Given the description of an element on the screen output the (x, y) to click on. 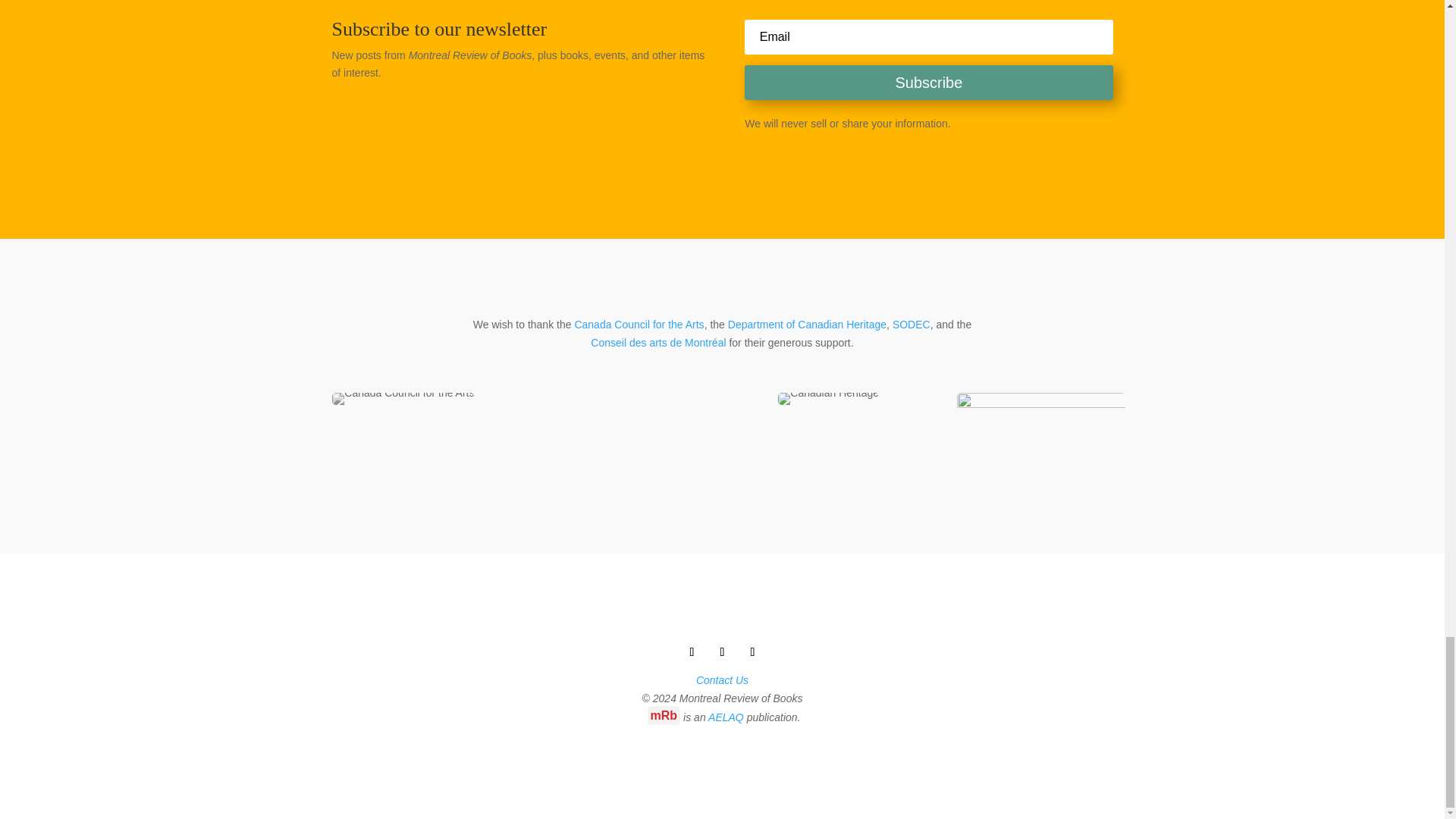
Canada Council for the Arts (402, 398)
Canadian Heritage logo (828, 398)
Follow on Instagram (751, 651)
SODEC (911, 324)
Follow on X (721, 651)
Canada Council for the Arts (638, 324)
Department of Canadian Heritage (807, 324)
Follow on Facebook (691, 651)
Subscribe (928, 82)
logo-jdmm-conseildesarts-header-grid-1 (1040, 434)
